Given the description of an element on the screen output the (x, y) to click on. 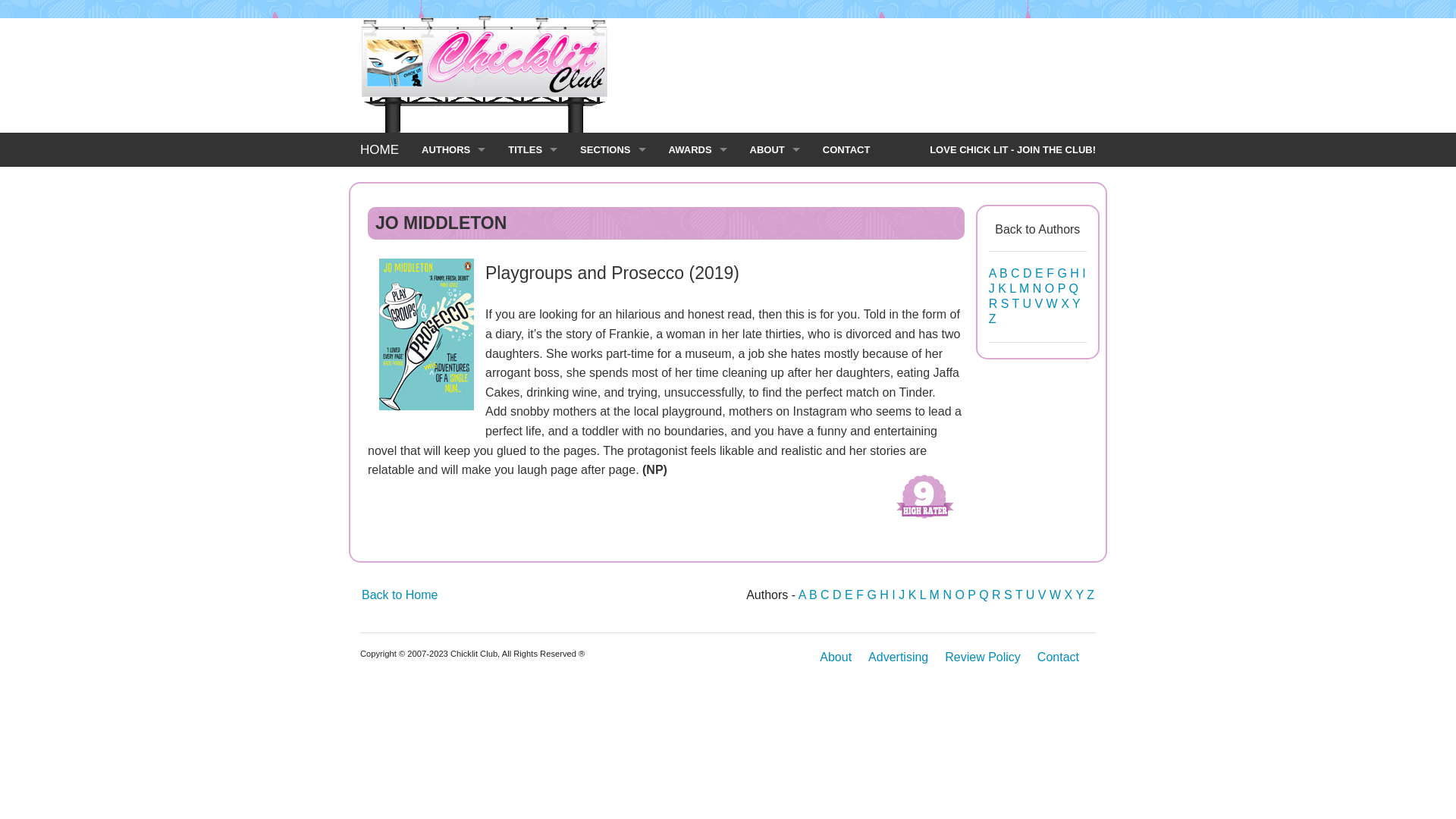
Memoirs (612, 388)
Titles A to Z (532, 183)
Classic Reads (612, 286)
SECTIONS (612, 149)
Australian Made (612, 252)
New Adult (612, 456)
AUTHORS (453, 149)
Interviews (453, 217)
HOME (379, 149)
Extras (612, 217)
Authors A to Z (453, 183)
Digital Domain (612, 320)
Release Dates (532, 286)
Dream Themes (612, 354)
Multiple Choice (612, 422)
